Given the description of an element on the screen output the (x, y) to click on. 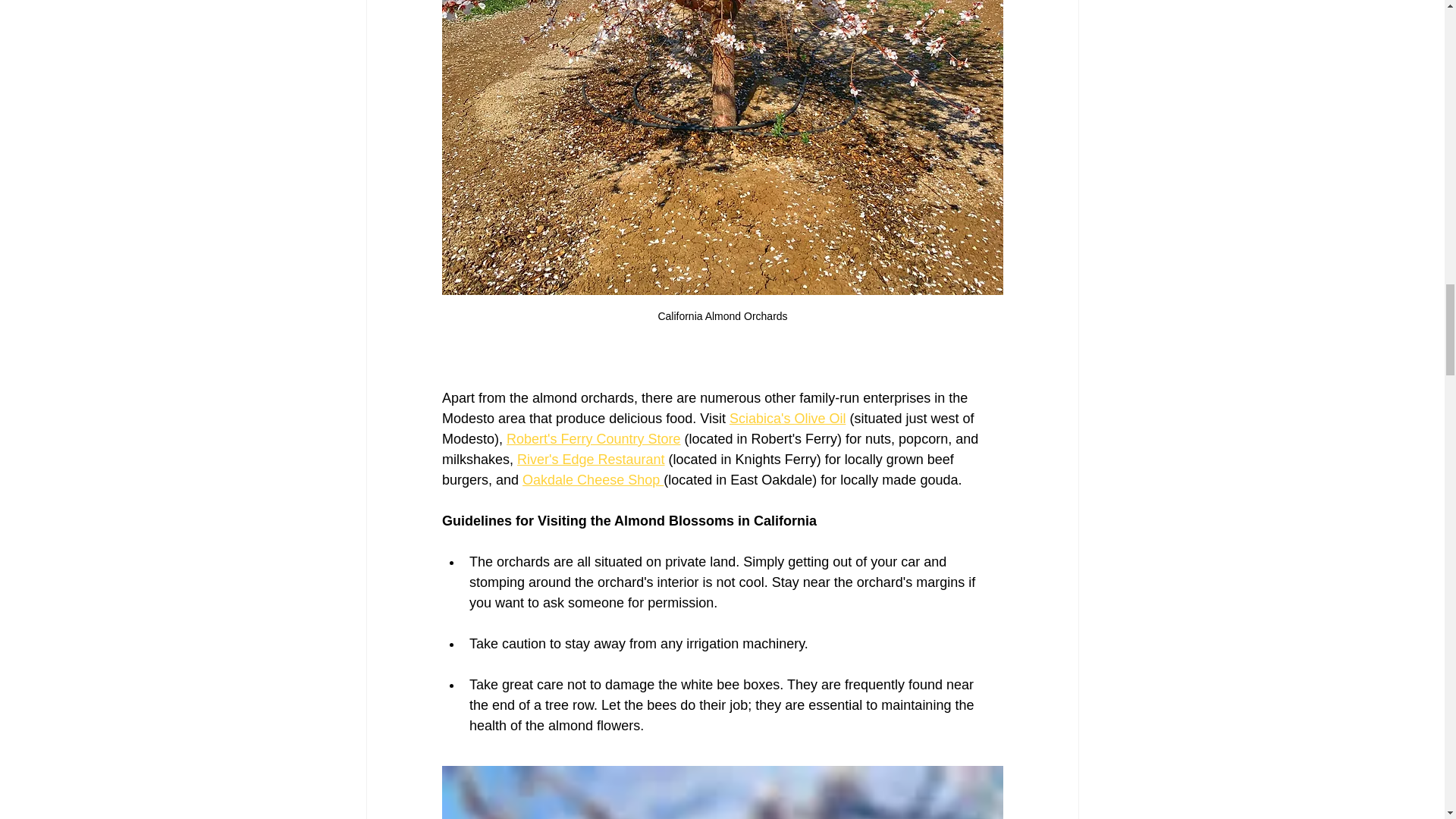
River's Edge Restaurant (590, 459)
Oakdale Cheese Shop  (592, 479)
Robert's Ferry Country Store (593, 438)
Sciabica's Olive Oil (786, 418)
